Given the description of an element on the screen output the (x, y) to click on. 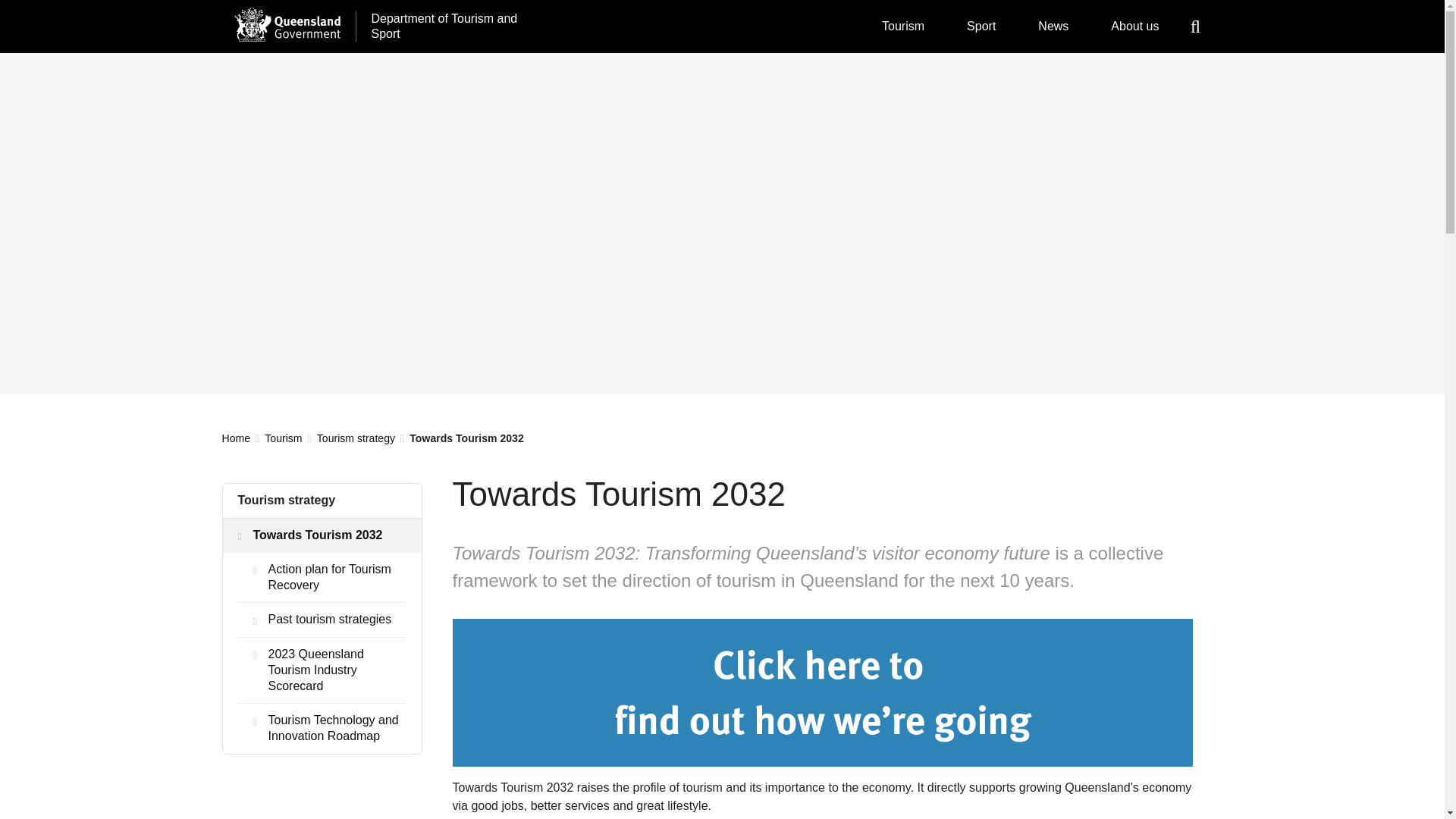
News (1052, 26)
About us (1134, 26)
Queensland Government (285, 24)
Sport (980, 26)
Tourism (902, 26)
Department of Tourism and Sport (446, 26)
